Given the description of an element on the screen output the (x, y) to click on. 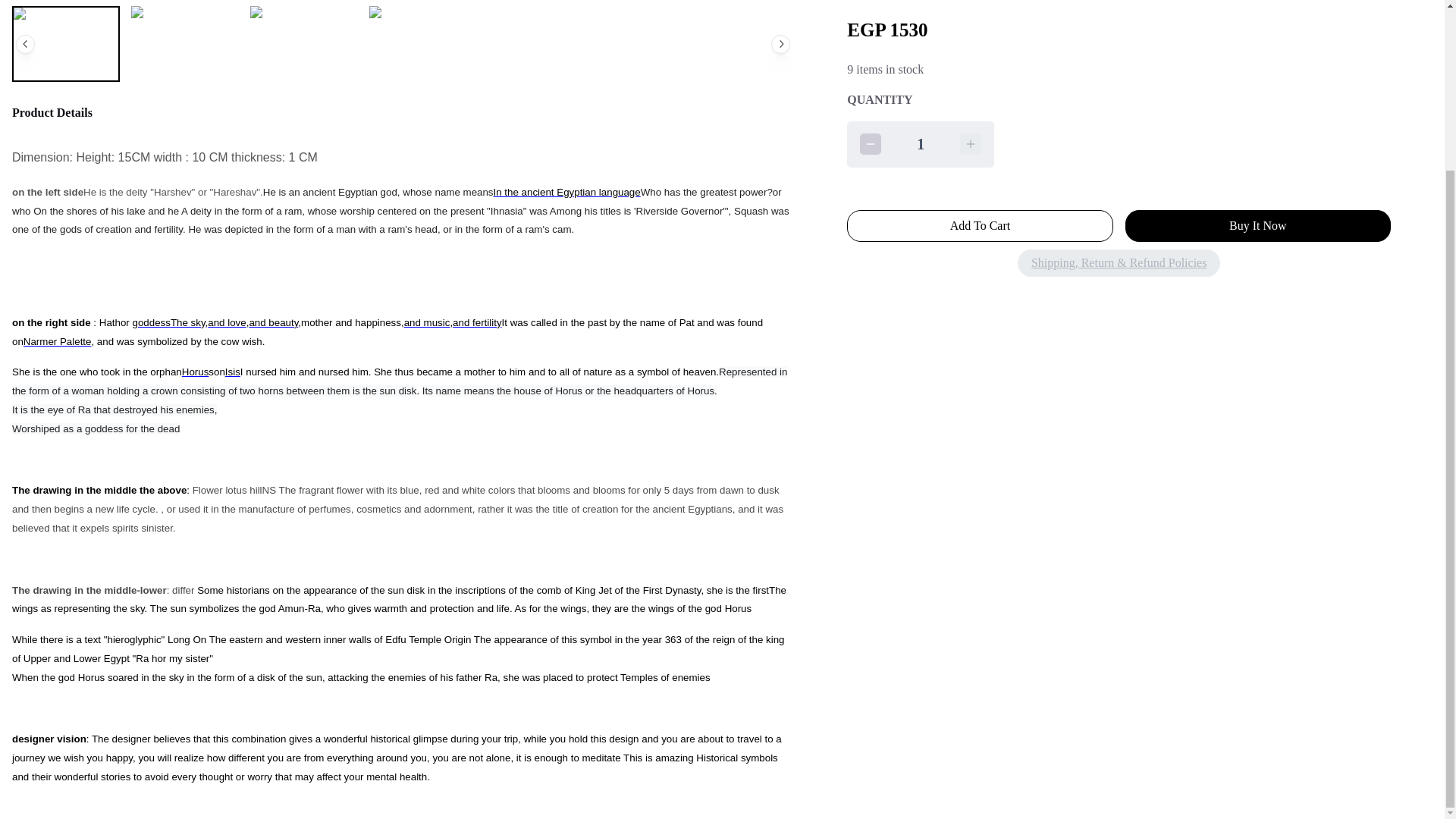
goddess (151, 322)
Buy It Now (1257, 225)
Isis (232, 371)
Add To Cart (979, 225)
and music (426, 322)
and beauty (273, 322)
In the ancient Egyptian language (566, 191)
and fertility (476, 322)
Narmer Palette (57, 340)
The sky (187, 322)
and love (227, 322)
Horus (195, 371)
